Given the description of an element on the screen output the (x, y) to click on. 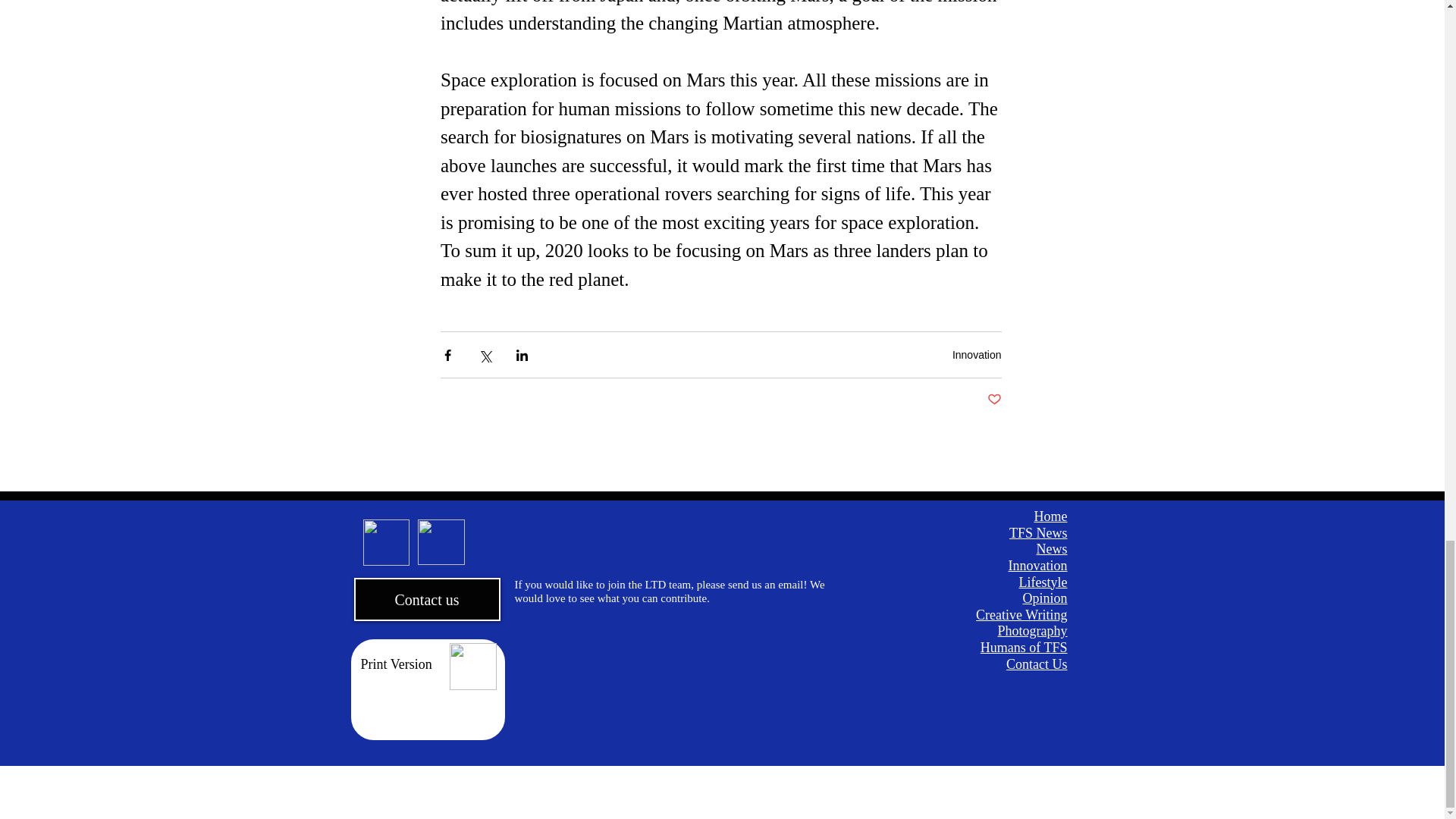
TFS News (1038, 532)
Creative Writing (1021, 614)
Innovation (976, 354)
Print Version (396, 663)
Post not marked as liked (994, 399)
Innovation (1038, 565)
Lifestyle (1043, 581)
News (1051, 548)
Contact us (426, 599)
Home (1050, 516)
Opinion (1044, 598)
Photography (1032, 630)
Contact Us (1036, 663)
Humans of TFS (1023, 647)
